Given the description of an element on the screen output the (x, y) to click on. 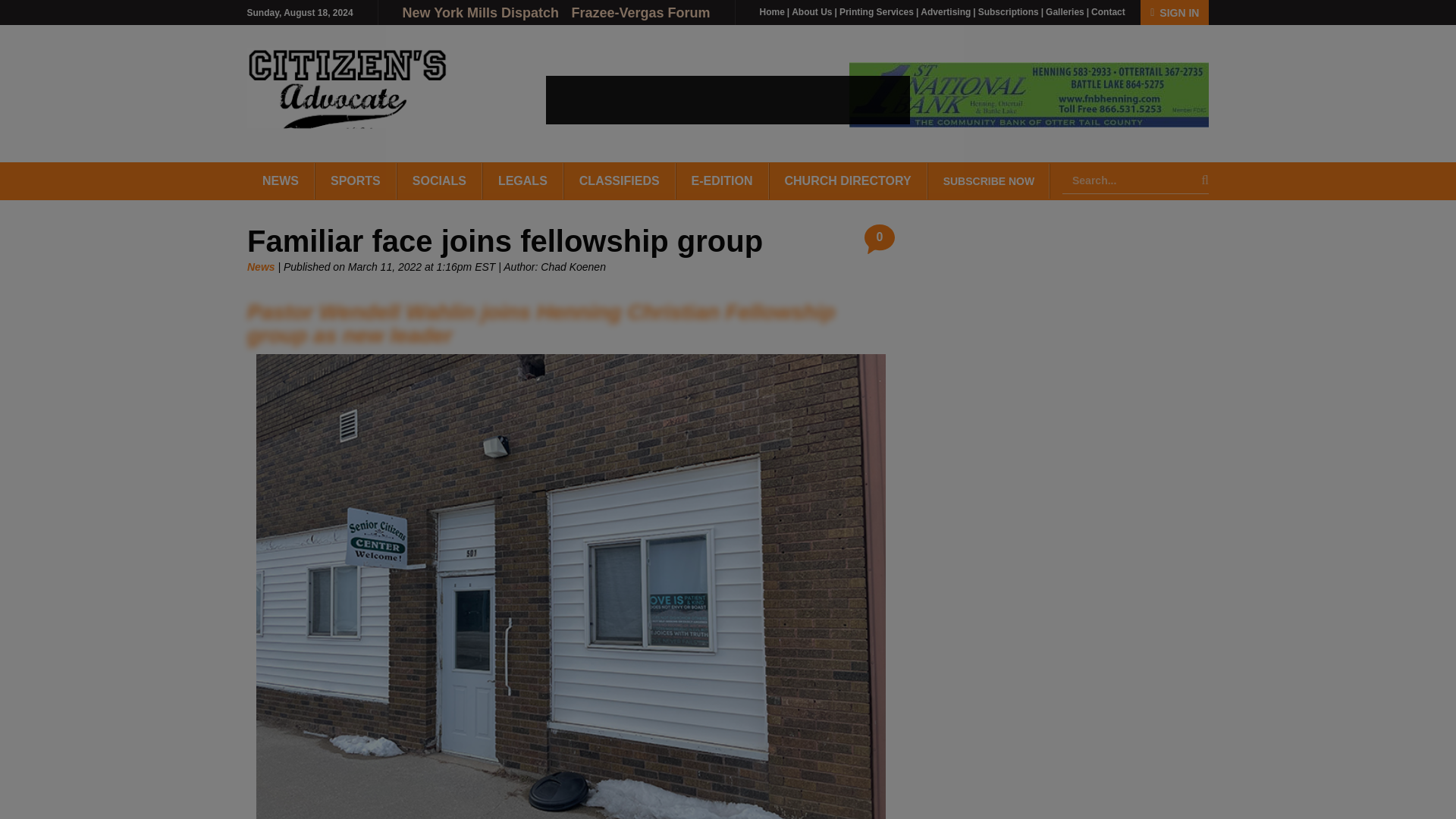
SPORTS (355, 180)
Galleries (1064, 11)
New York Mills Dispatch (482, 11)
SIGN IN (1174, 12)
Home (772, 11)
NEWS (280, 180)
Frazee-Vergas Forum (640, 11)
Contact (1107, 11)
About Us (811, 11)
Printing Services (877, 11)
